Given the description of an element on the screen output the (x, y) to click on. 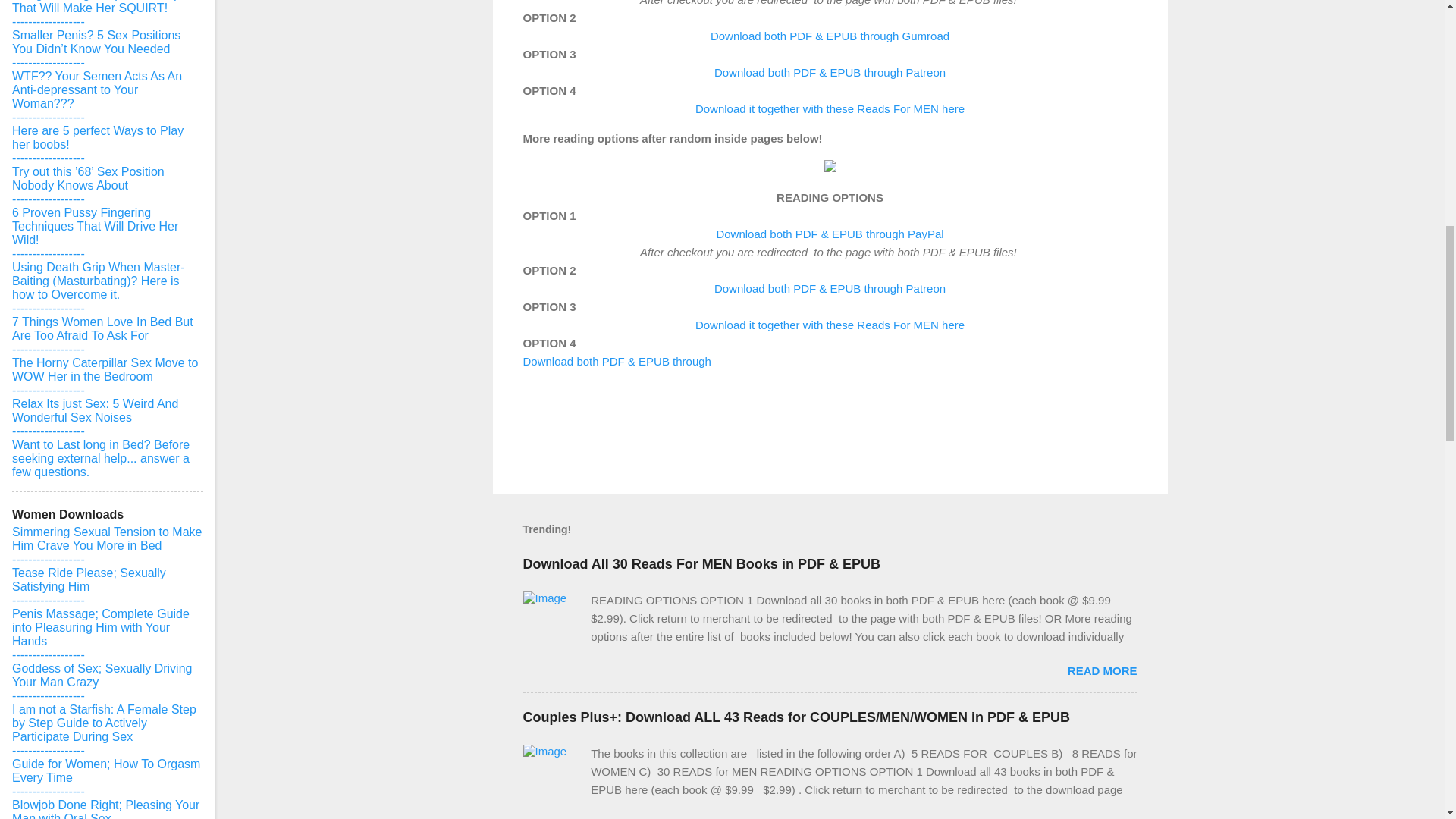
Download it together with these Reads For MEN here (829, 324)
Email Post (562, 412)
Download it together with these Reads For MEN here (829, 107)
READ MORE (1102, 818)
READ MORE (1102, 670)
